Given the description of an element on the screen output the (x, y) to click on. 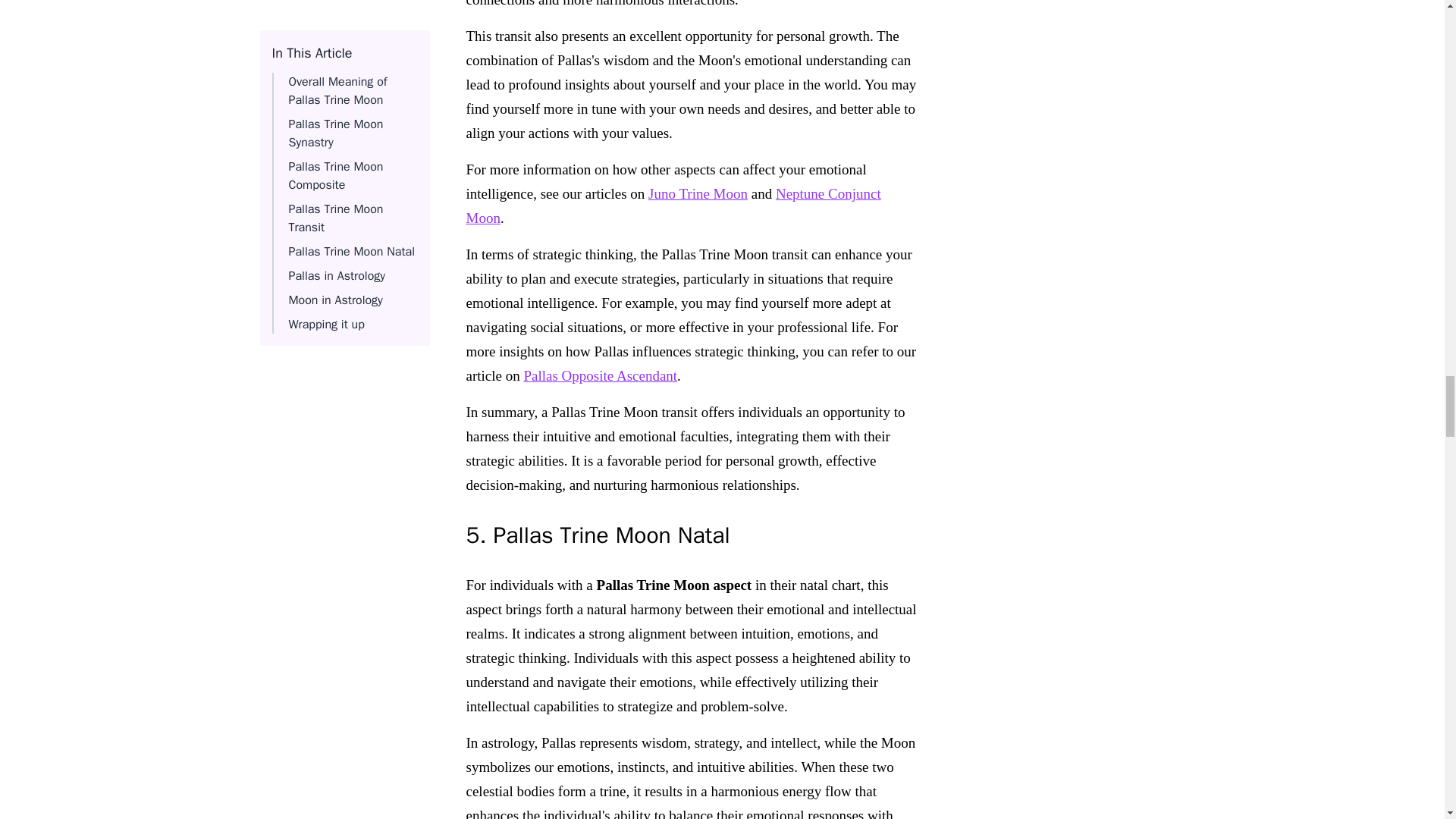
Pallas Opposite Ascendant (599, 375)
Juno Trine Moon (697, 193)
Neptune Conjunct Moon (672, 205)
